Given the description of an element on the screen output the (x, y) to click on. 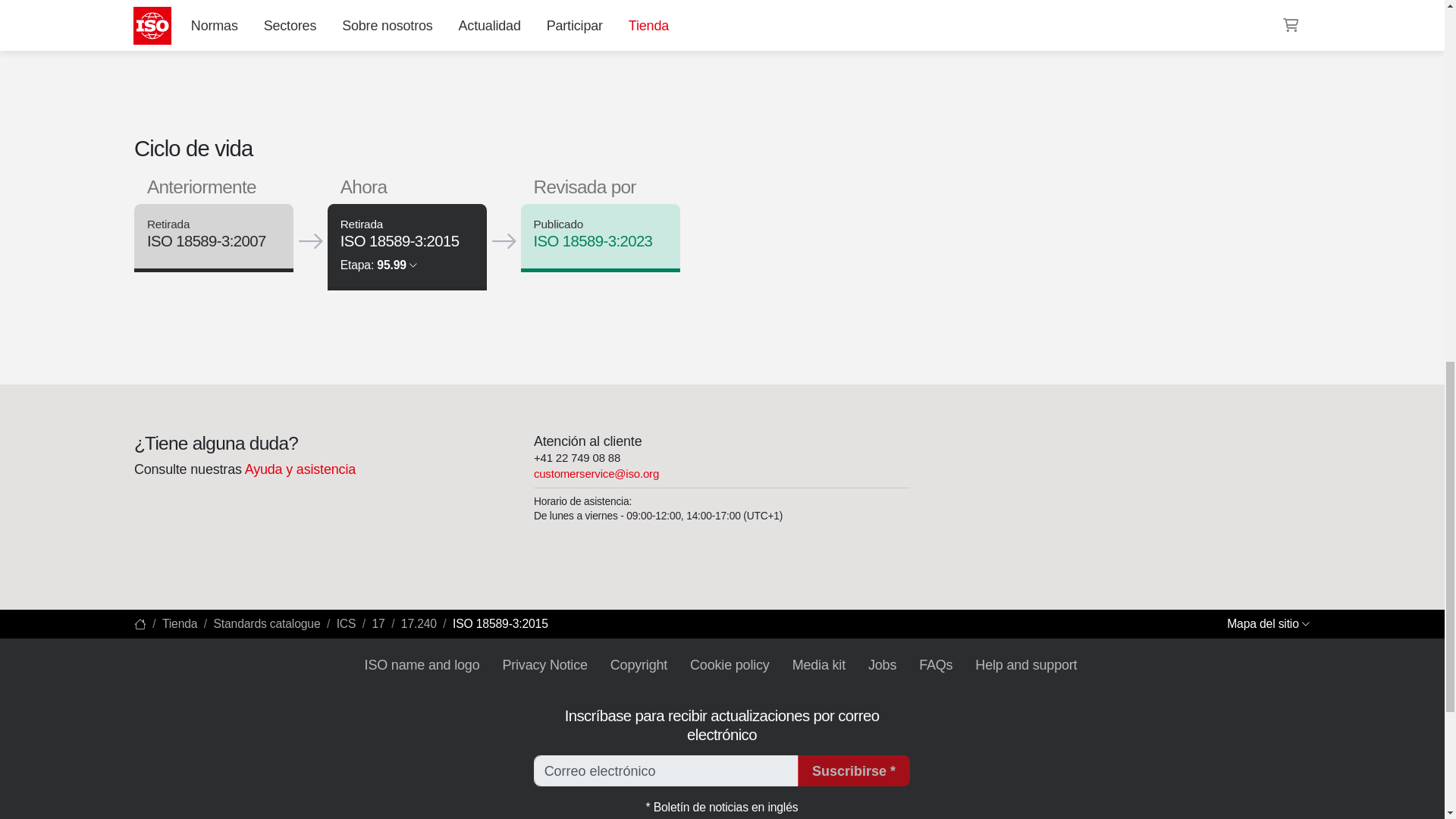
Etapa: 95.99 (377, 264)
RSS (956, 11)
ISO 18589-3:2007 (205, 240)
